Given the description of an element on the screen output the (x, y) to click on. 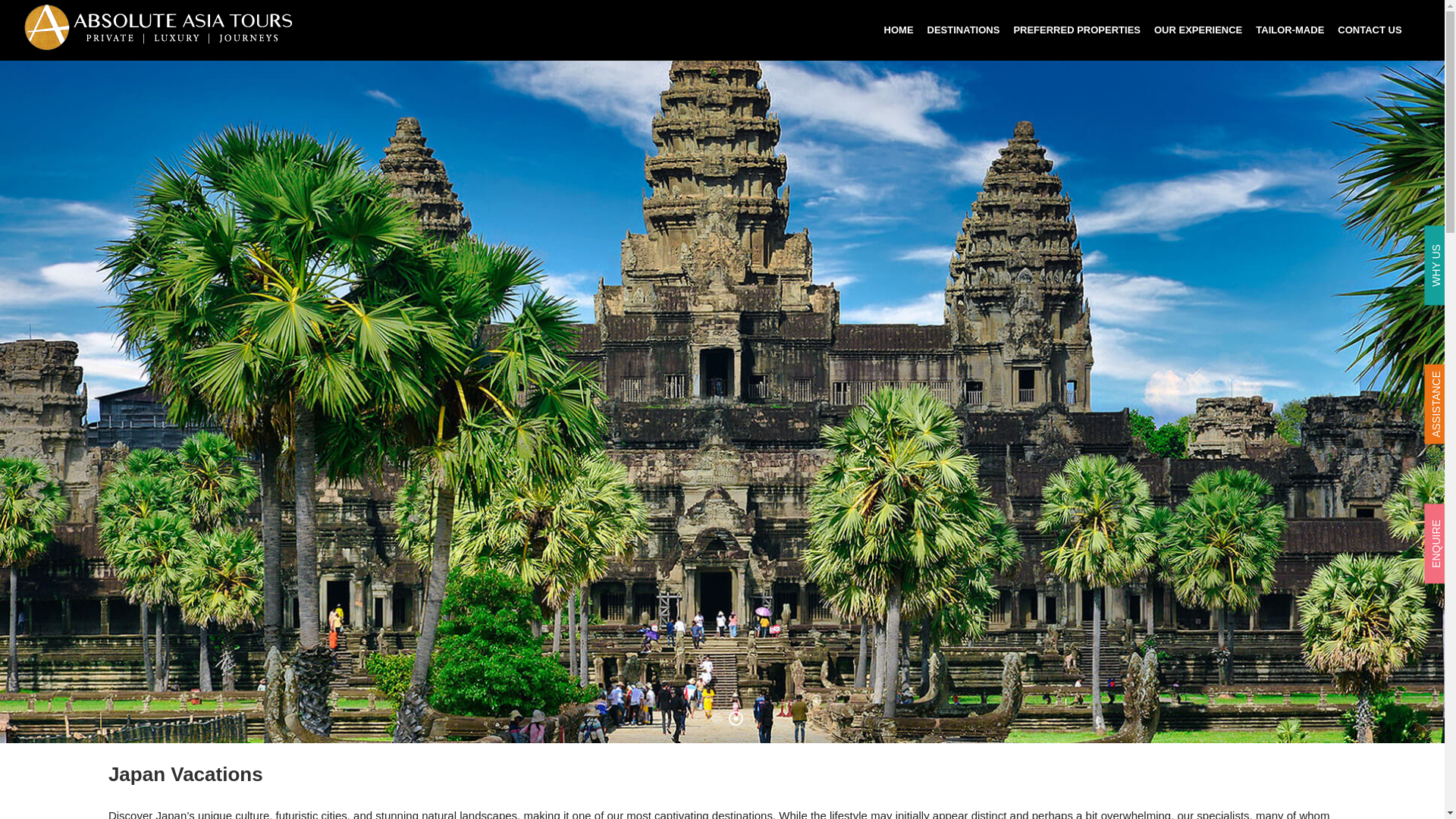
DESTINATIONS (963, 30)
